Given the description of an element on the screen output the (x, y) to click on. 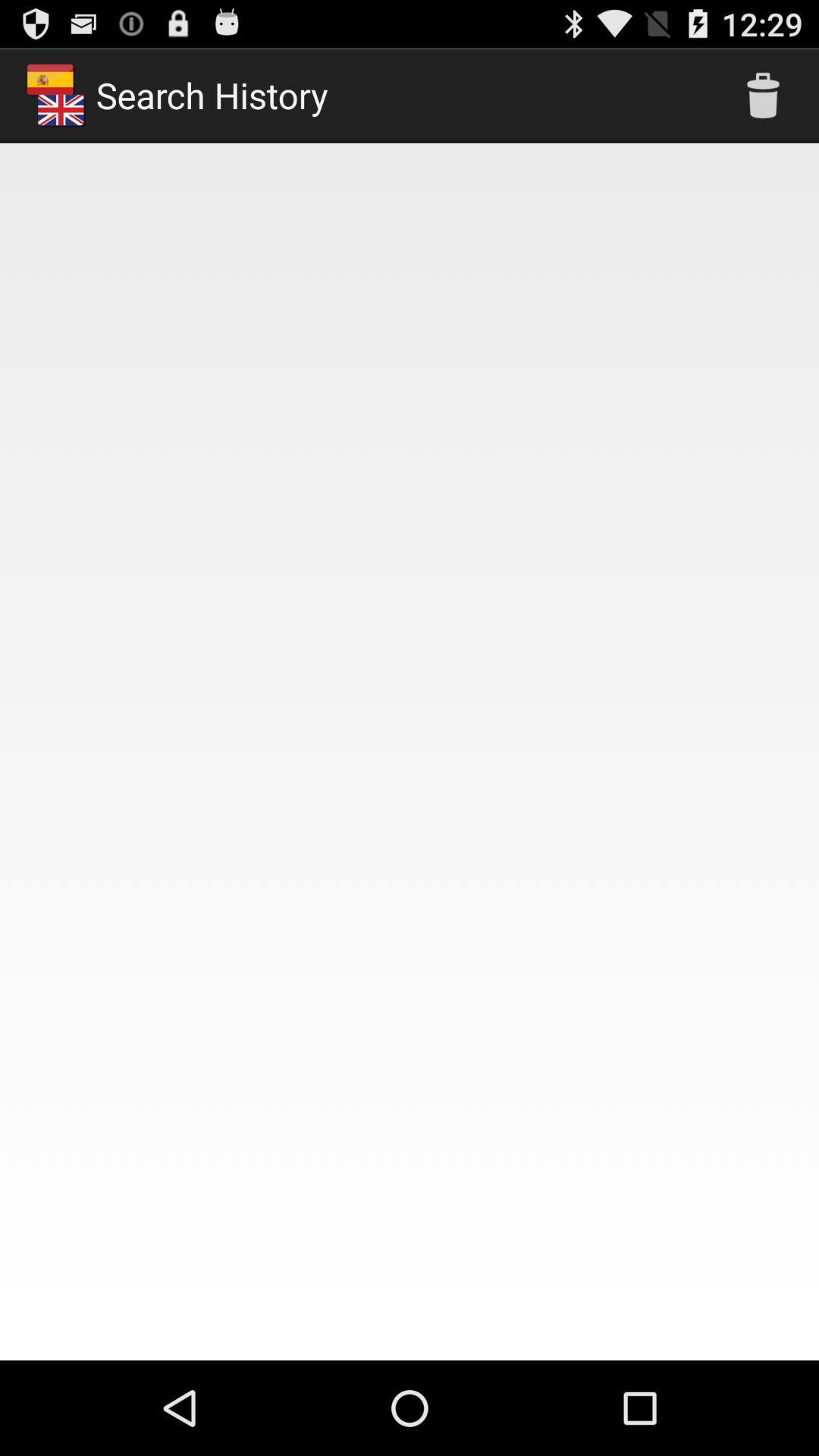
turn off the icon at the top right corner (763, 95)
